Given the description of an element on the screen output the (x, y) to click on. 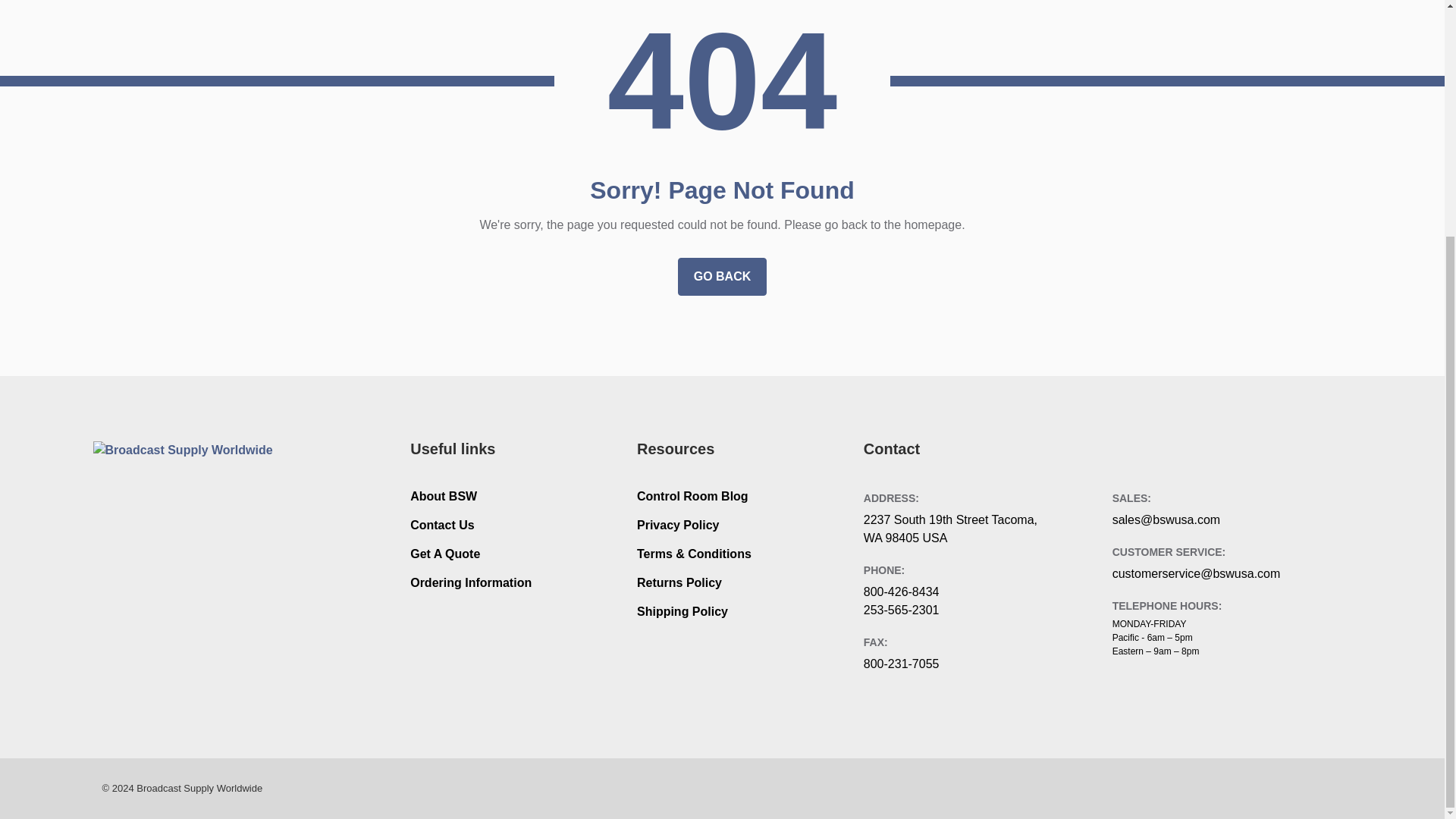
Shipping Policy (682, 611)
Ordering Information (470, 582)
Privacy Policy (678, 524)
253-565-2301 (901, 610)
800-426-8434 (901, 592)
About BSW (443, 495)
Broadcast Supply Worldwide (191, 465)
Returns Policy (679, 582)
GO BACK (722, 276)
Control Room Blog (692, 495)
